Given the description of an element on the screen output the (x, y) to click on. 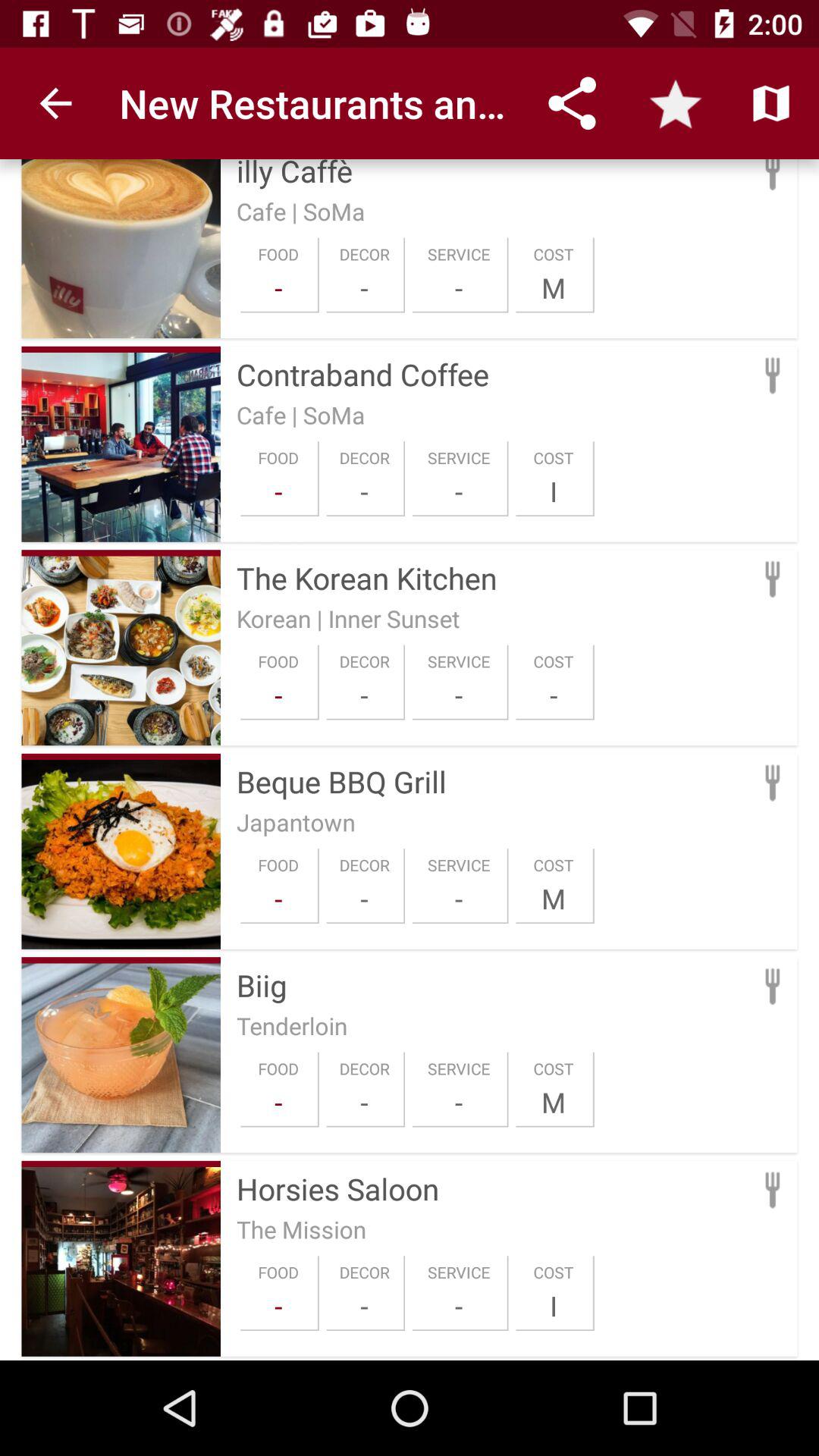
press the the mission icon (301, 1229)
